Given the description of an element on the screen output the (x, y) to click on. 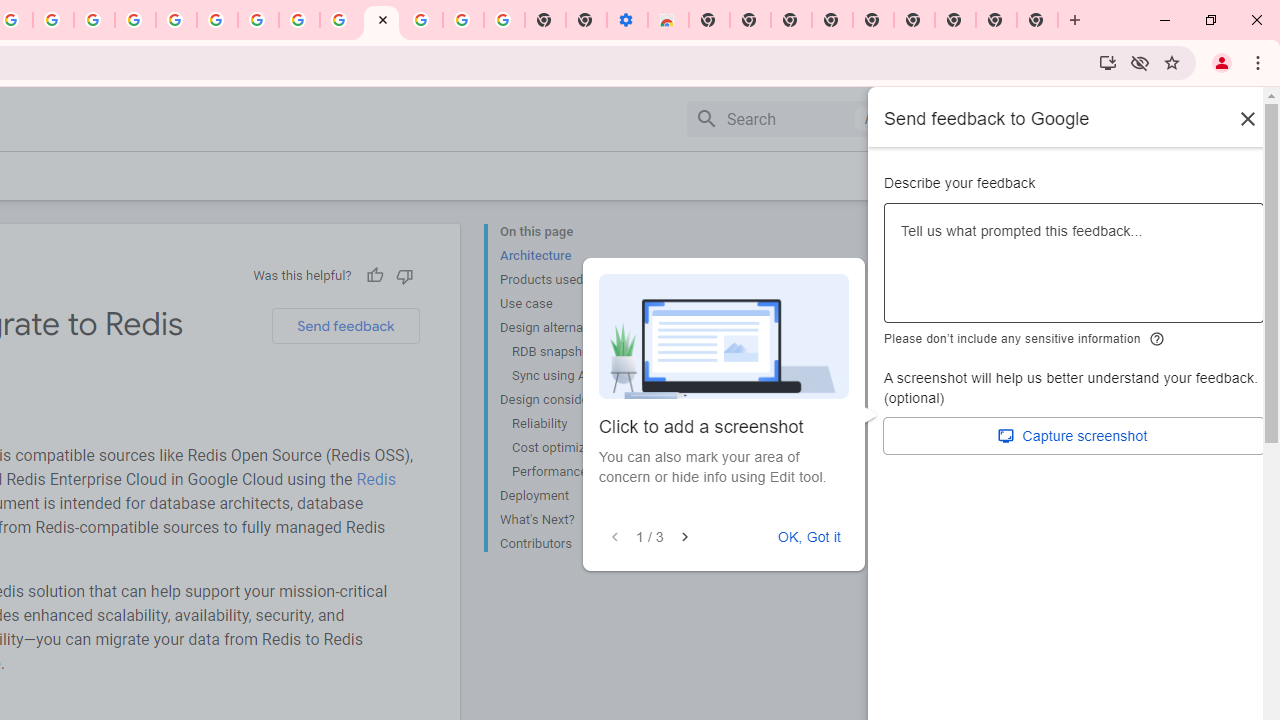
Sign in - Google Accounts (421, 20)
Design considerations (580, 399)
Previous (615, 537)
Docs, selected (942, 119)
Products used (580, 279)
Google Account Help (217, 20)
Capture screenshot (1074, 436)
Sign in - Google Accounts (176, 20)
English (1110, 118)
Support (1000, 119)
Helpful (374, 275)
Contributors (580, 542)
